Given the description of an element on the screen output the (x, y) to click on. 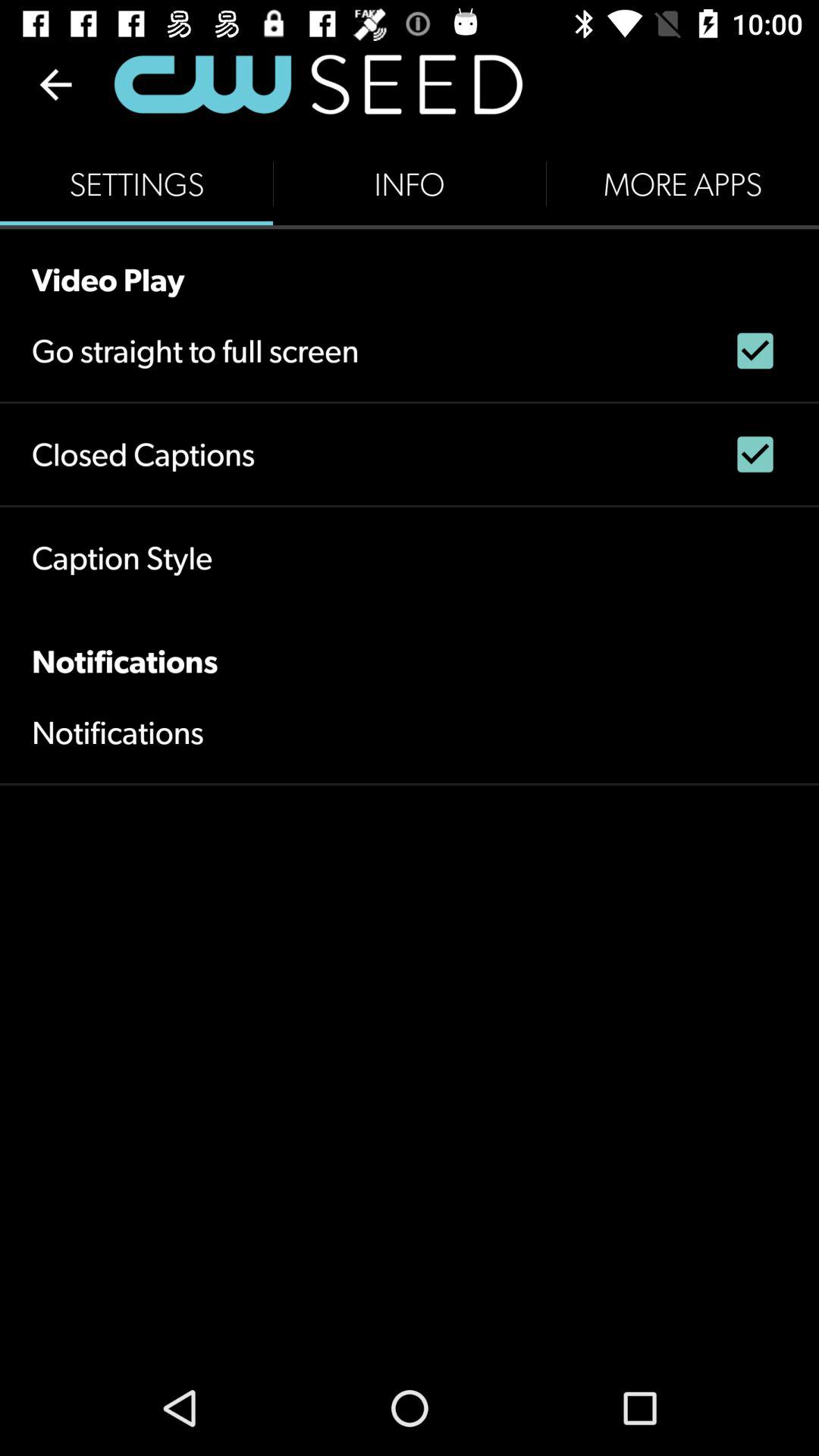
tap item above closed captions (194, 350)
